Given the description of an element on the screen output the (x, y) to click on. 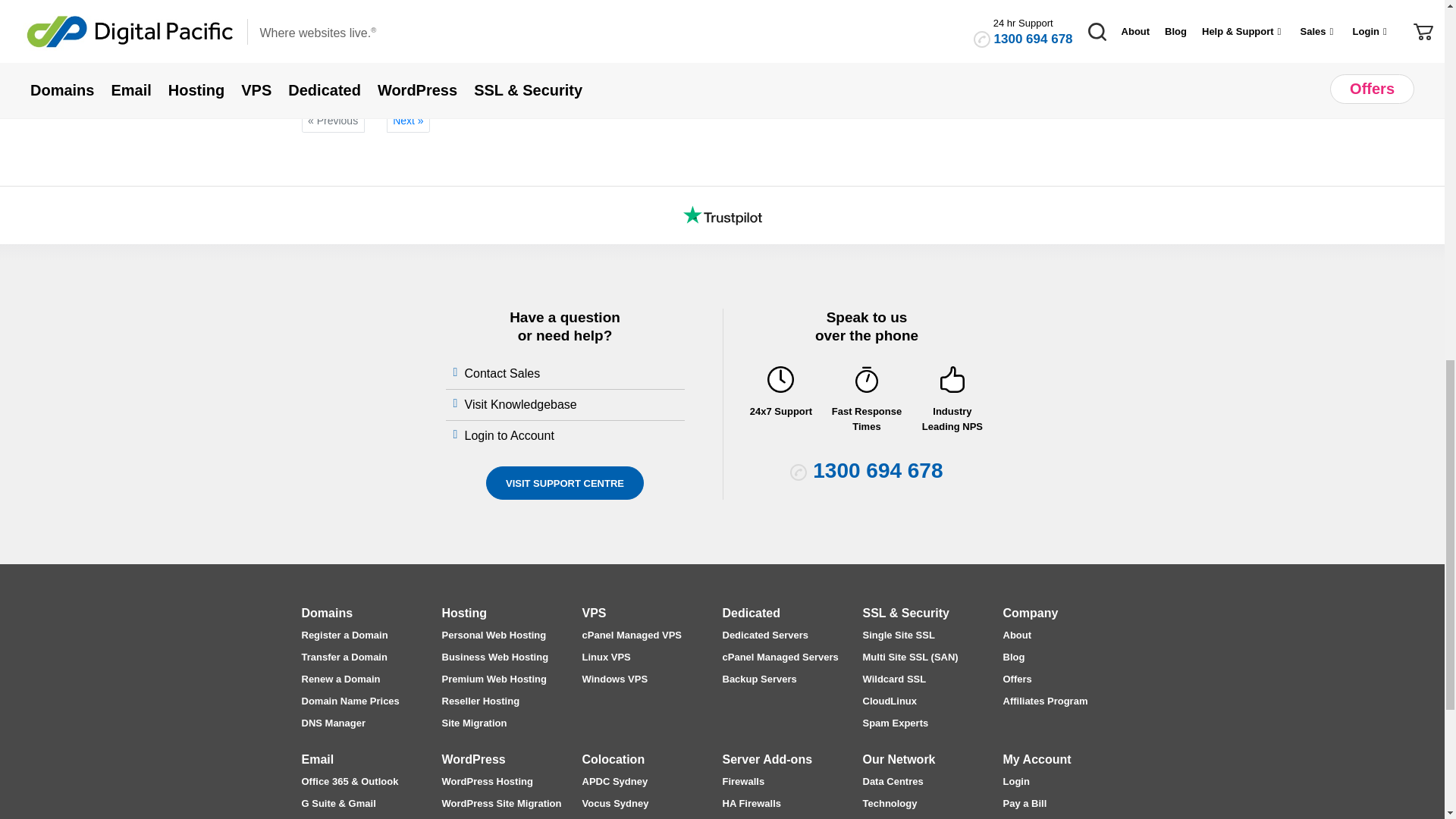
Visit Support Centre (564, 482)
Call 1300 694 678 (877, 470)
Customer reviews powered by Trustpilot (721, 215)
Visit Knowledgebase (522, 404)
Contact Sales (504, 373)
Login to Account (511, 435)
